Given the description of an element on the screen output the (x, y) to click on. 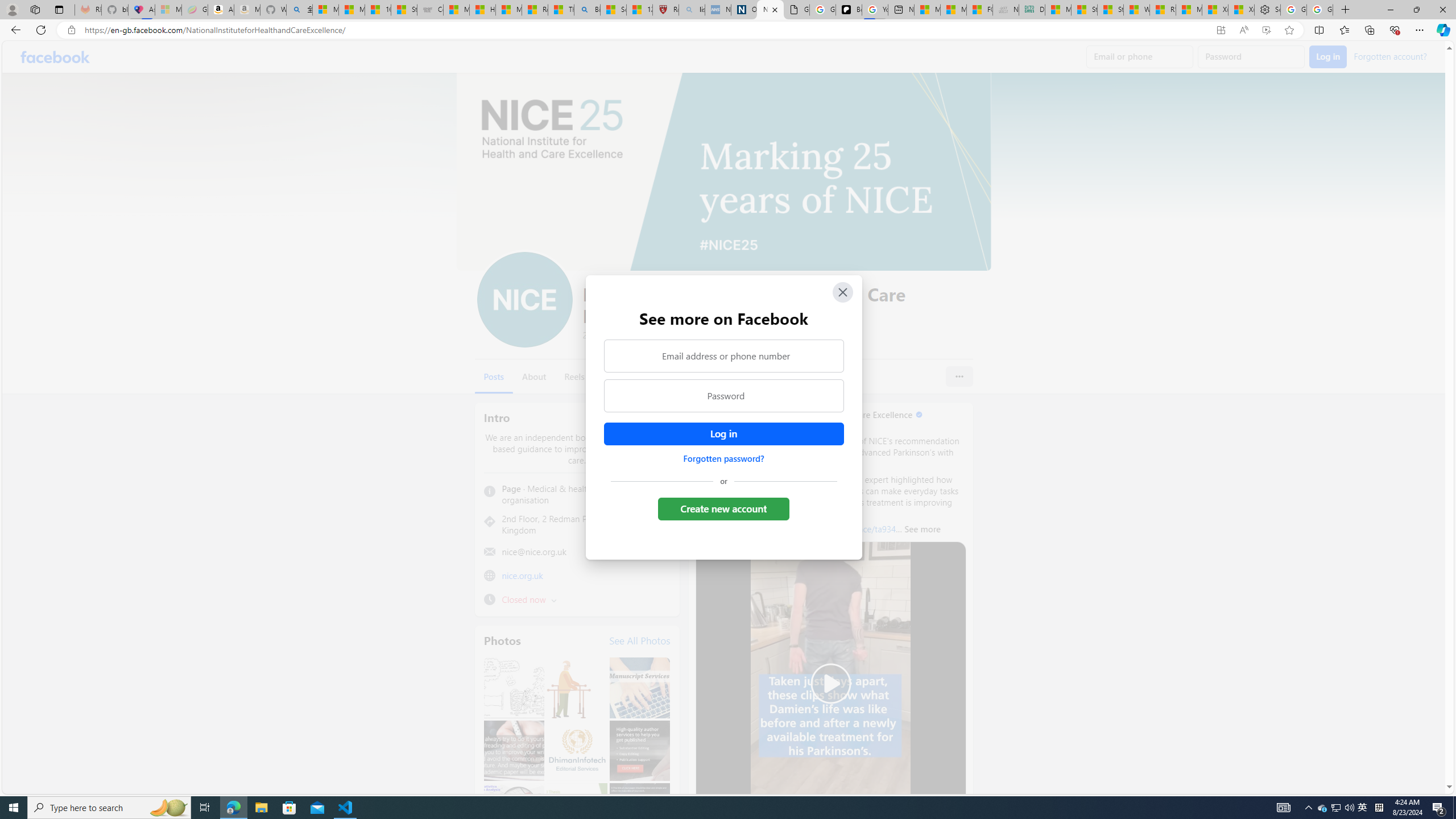
Google Analytics Opt-out Browser Add-on Download Page (795, 9)
Accessible login button (723, 433)
Create new account (724, 508)
Email address or phone number (723, 355)
Password (723, 395)
